Given the description of an element on the screen output the (x, y) to click on. 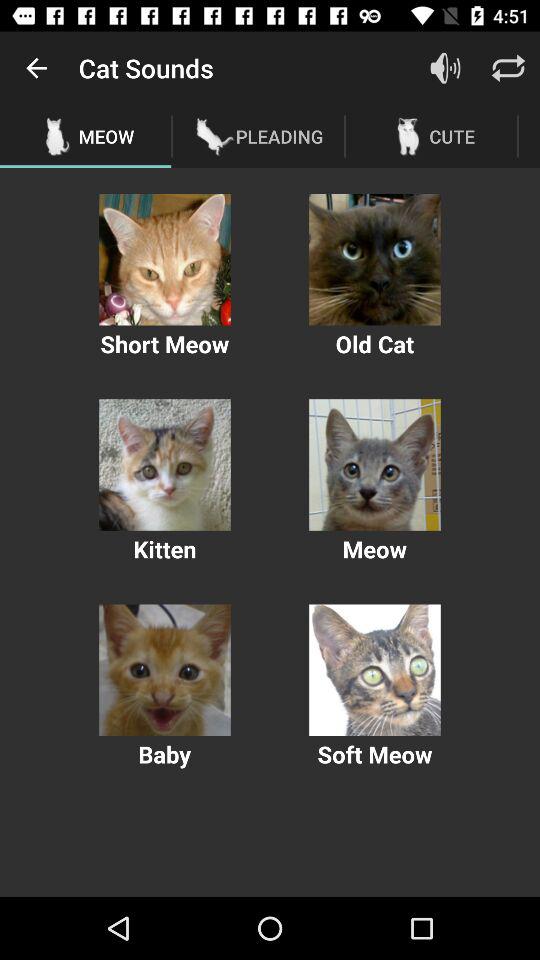
expand image (164, 669)
